Given the description of an element on the screen output the (x, y) to click on. 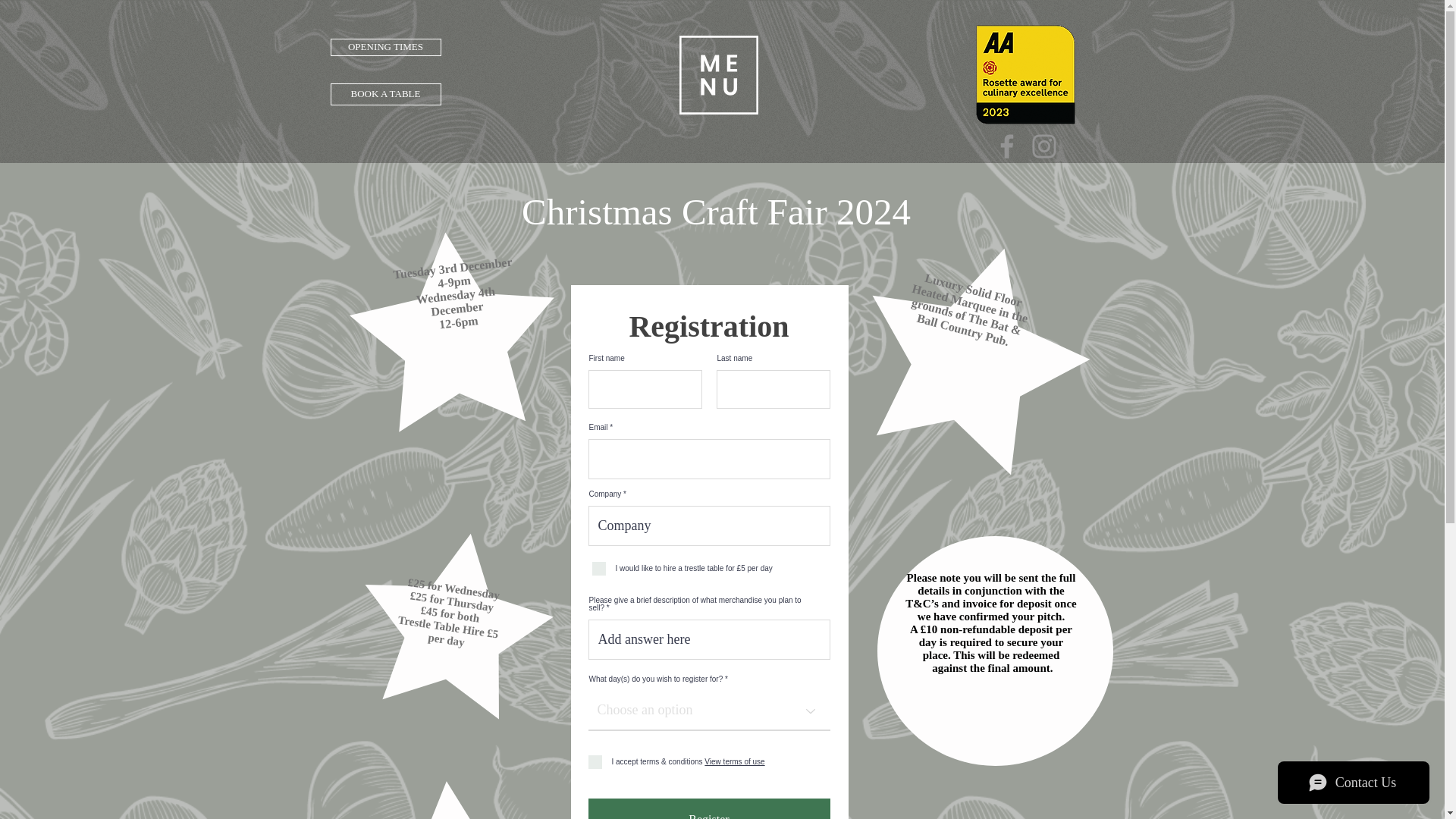
BOOK A TABLE (385, 94)
View terms of use (734, 761)
Register (708, 808)
OPENING TIMES (385, 47)
